Given the description of an element on the screen output the (x, y) to click on. 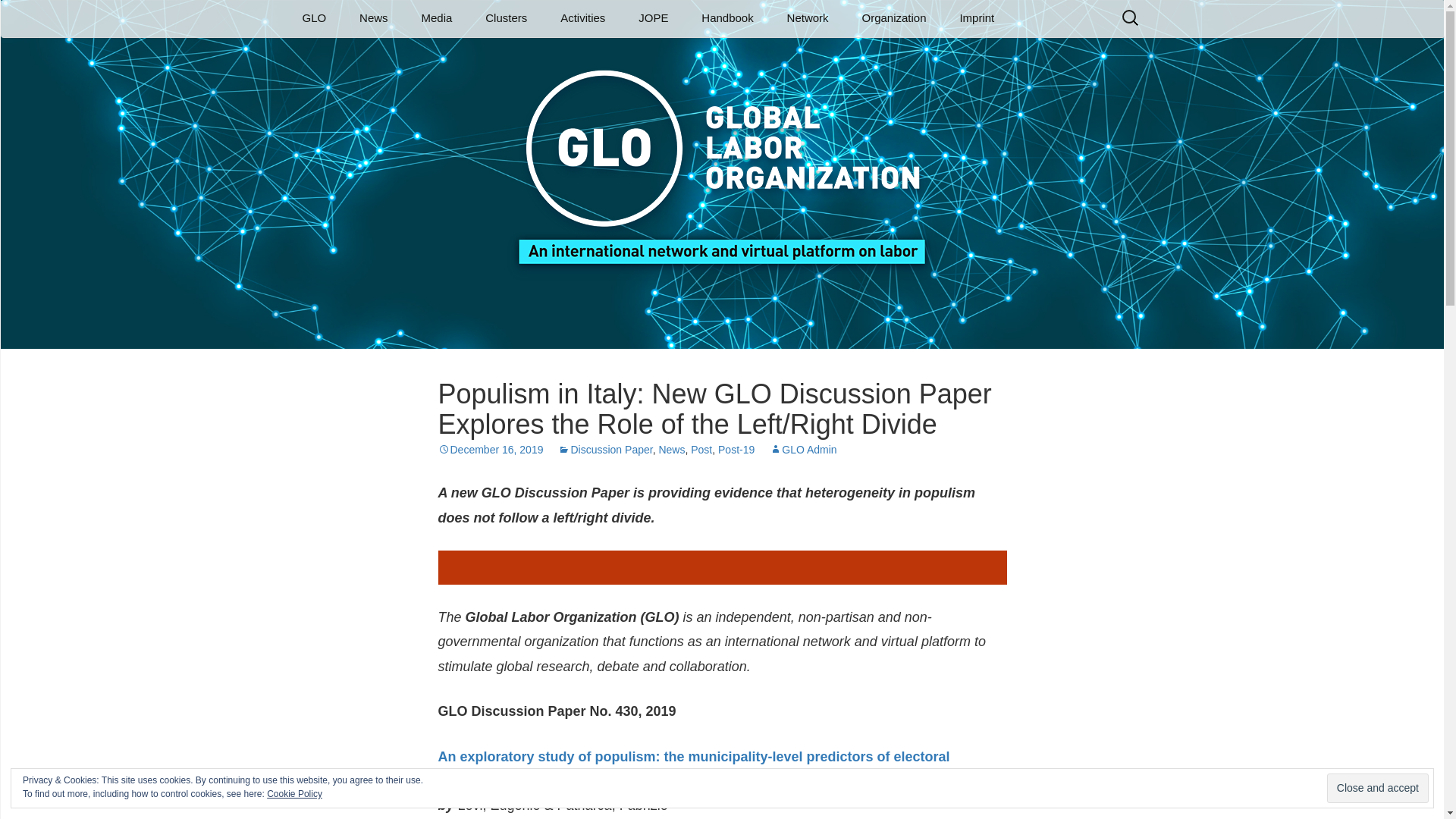
MISSION (362, 51)
Close and accept (1377, 788)
Clusters (505, 17)
GLO (313, 17)
View all posts by GLO Admin (802, 449)
THEMATIC CLUSTERS I (545, 57)
News (373, 17)
DISCUSSION PAPERS (481, 51)
